Given the description of an element on the screen output the (x, y) to click on. 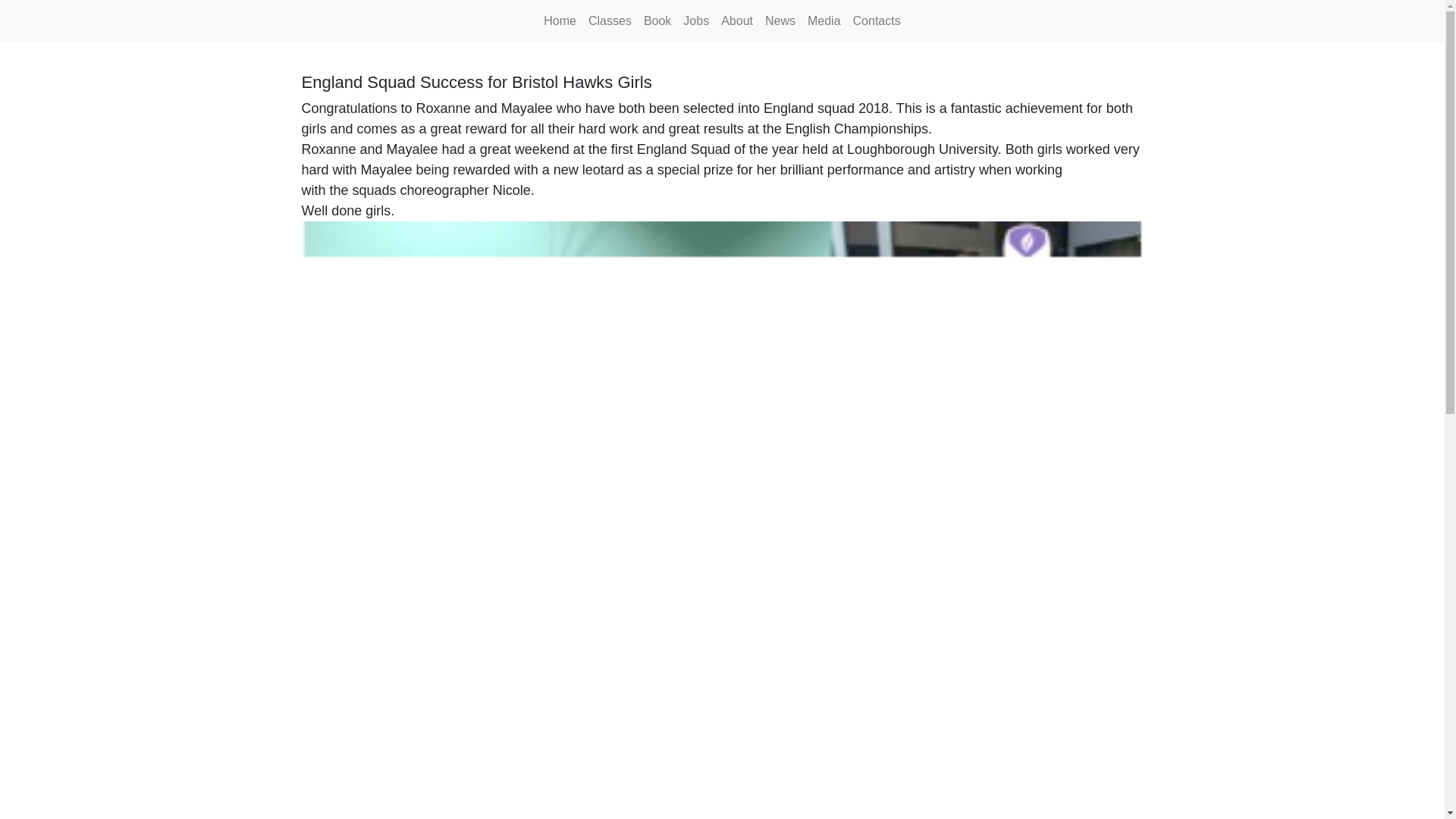
About (736, 20)
Classes (609, 20)
Home (559, 20)
Contacts (877, 20)
Jobs (695, 20)
Media (824, 20)
Book (657, 20)
News (780, 20)
